Given the description of an element on the screen output the (x, y) to click on. 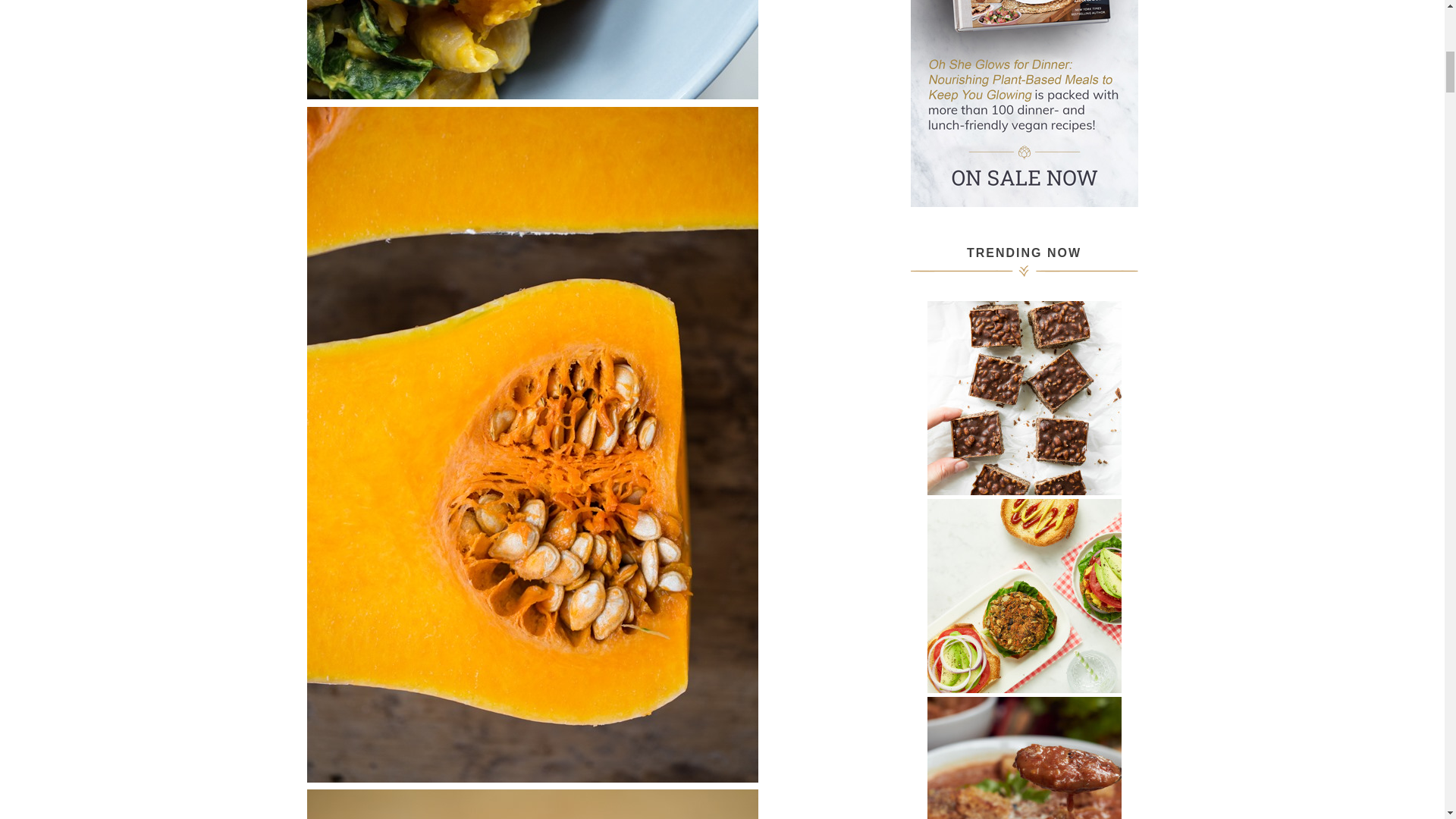
cheesybutternutsquashsauce-1475 (531, 804)
veganmacandcheese-1909-2 (531, 49)
